Given the description of an element on the screen output the (x, y) to click on. 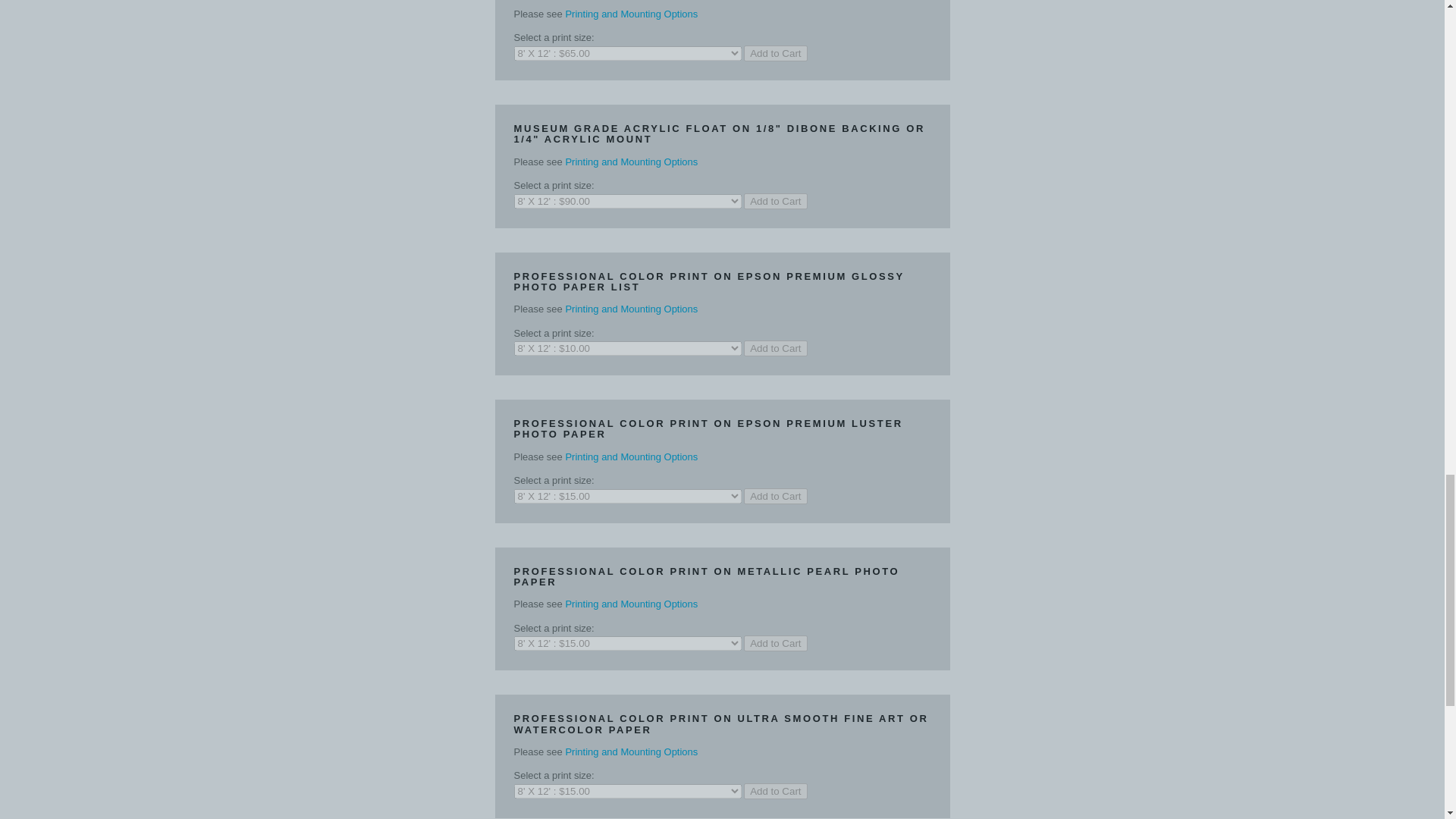
Printing and Mounting Options (630, 603)
Add to Cart (775, 790)
Printing and Mounting Options (630, 161)
Printing and Mounting Options (630, 751)
Printing and Mounting Options (630, 456)
Printing and Mounting Options (630, 13)
Add to Cart (775, 348)
Add to Cart (775, 496)
Add to Cart (775, 53)
Printing and Mounting Options (630, 308)
Add to Cart (775, 201)
Add to Cart (775, 643)
